Given the description of an element on the screen output the (x, y) to click on. 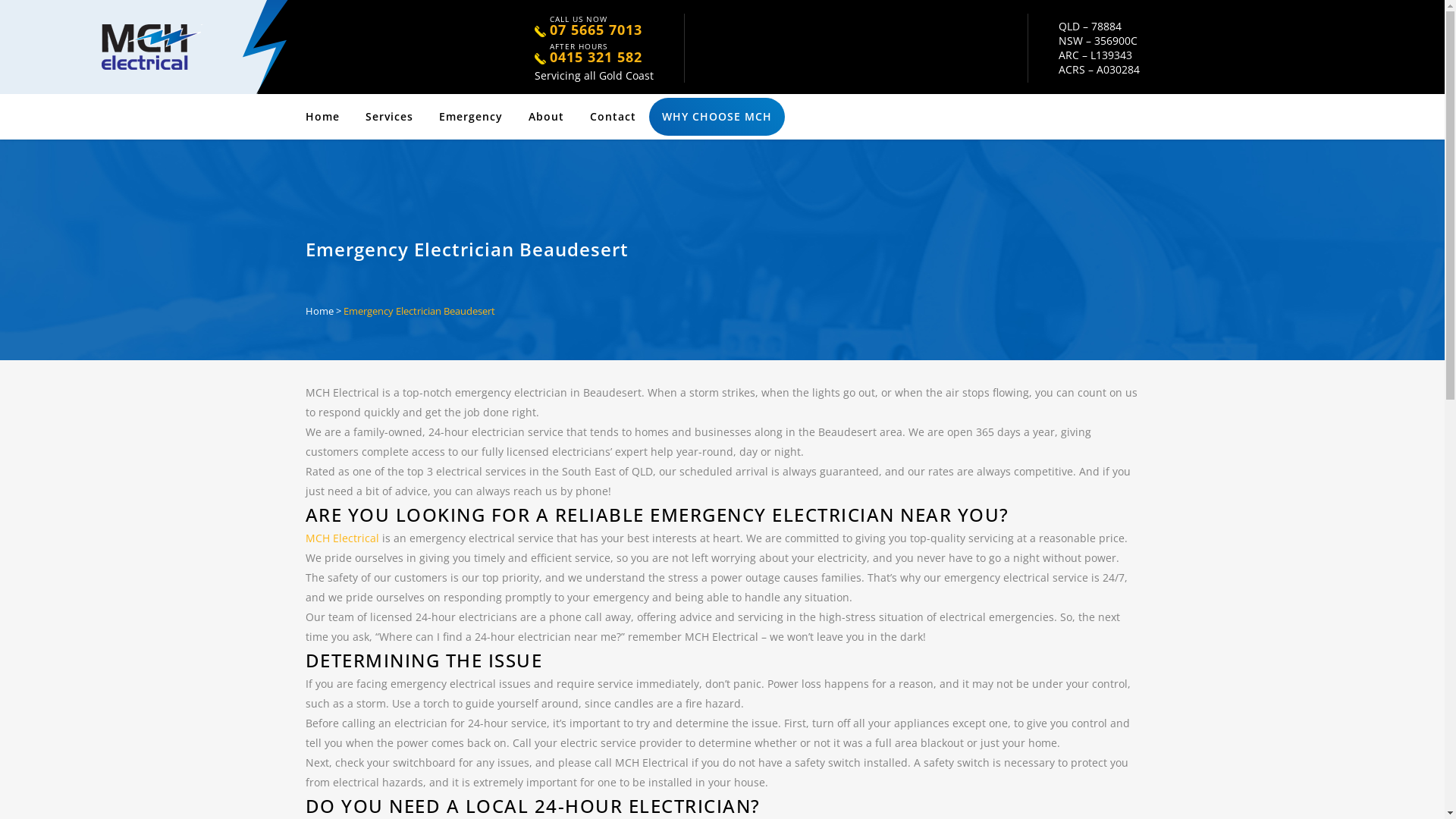
Home Element type: text (318, 309)
07 5665 7013 Element type: text (595, 31)
About Element type: text (546, 116)
MCH Electrical Element type: text (341, 537)
Contact Element type: text (612, 116)
Home Element type: text (327, 116)
WHY CHOOSE MCH Element type: text (716, 116)
0415 321 582 Element type: text (595, 58)
Services Element type: text (388, 116)
Emergency Element type: text (470, 116)
